Given the description of an element on the screen output the (x, y) to click on. 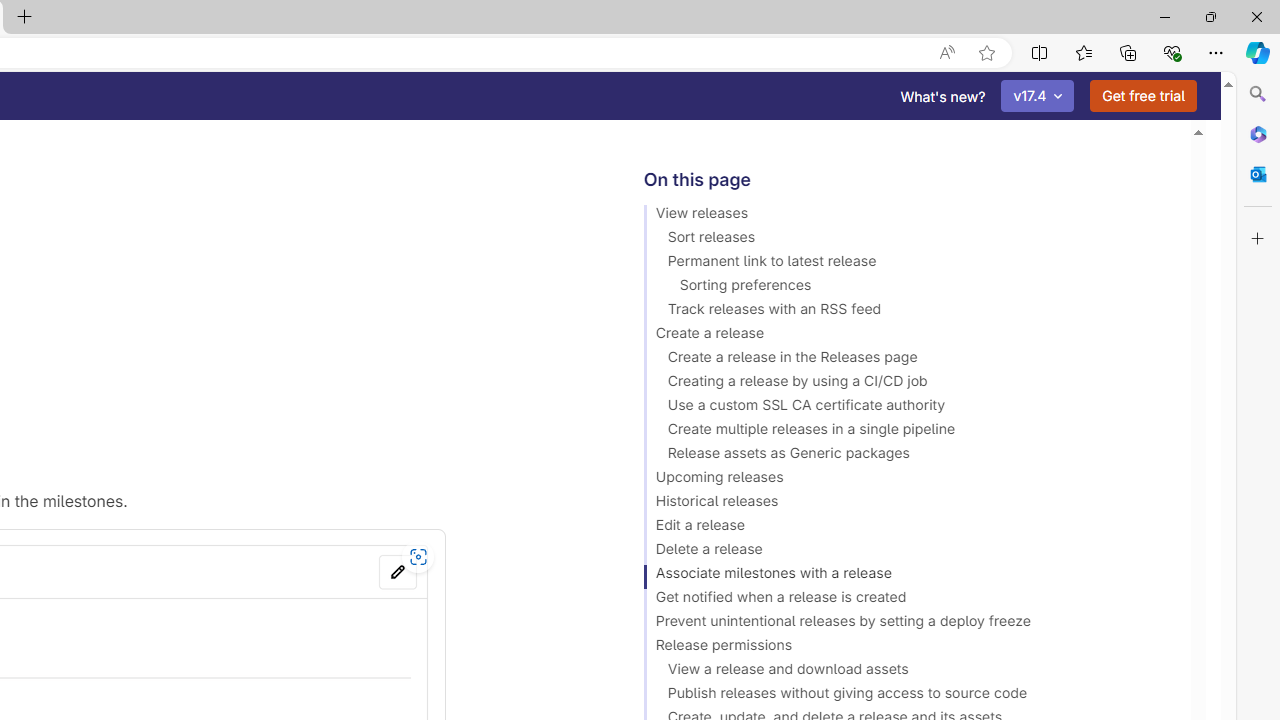
Prevent unintentional releases by setting a deploy freeze (908, 624)
Get free trial (1143, 95)
View releases (908, 215)
